Given the description of an element on the screen output the (x, y) to click on. 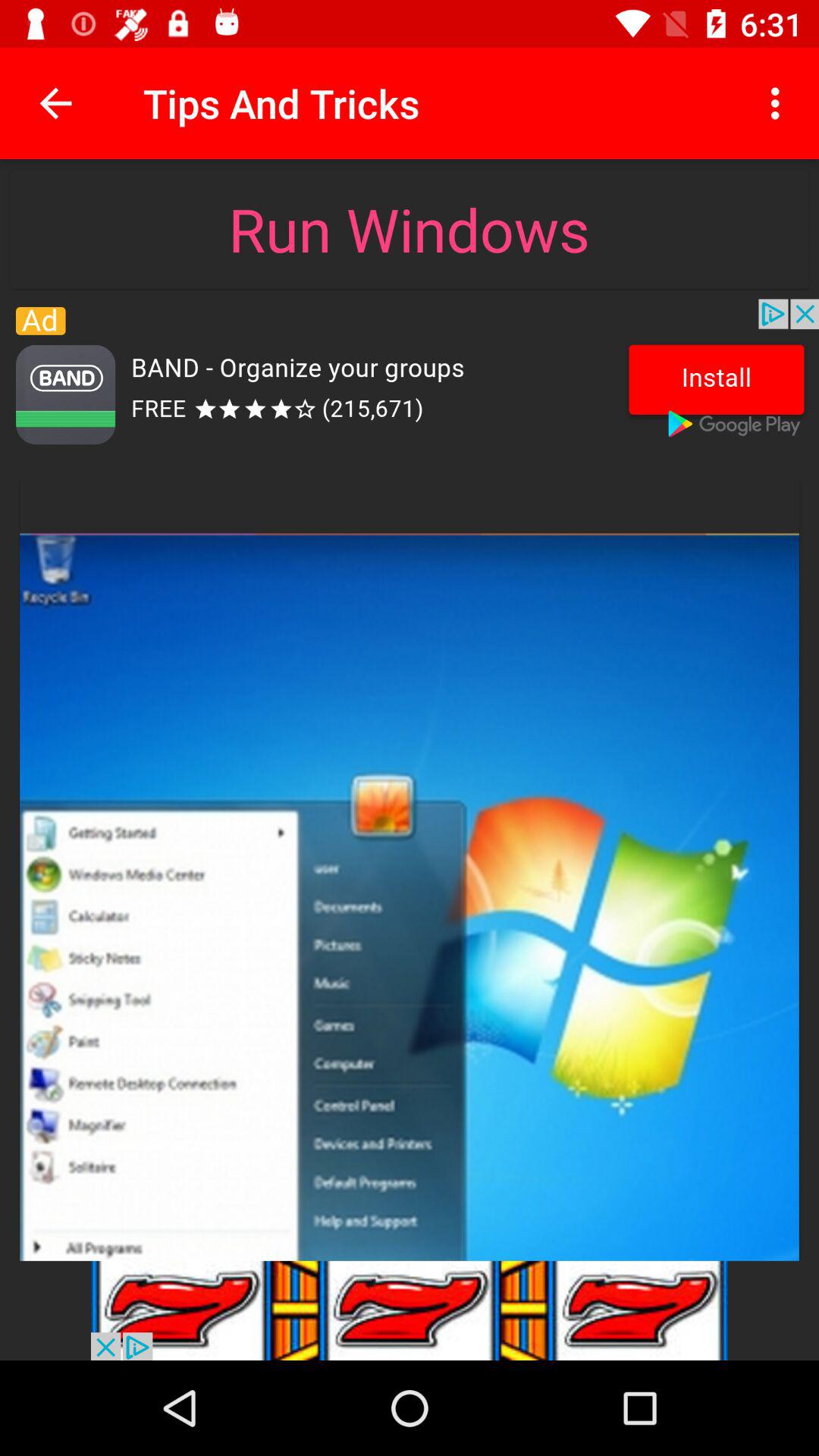
advertisement area (409, 378)
